Given the description of an element on the screen output the (x, y) to click on. 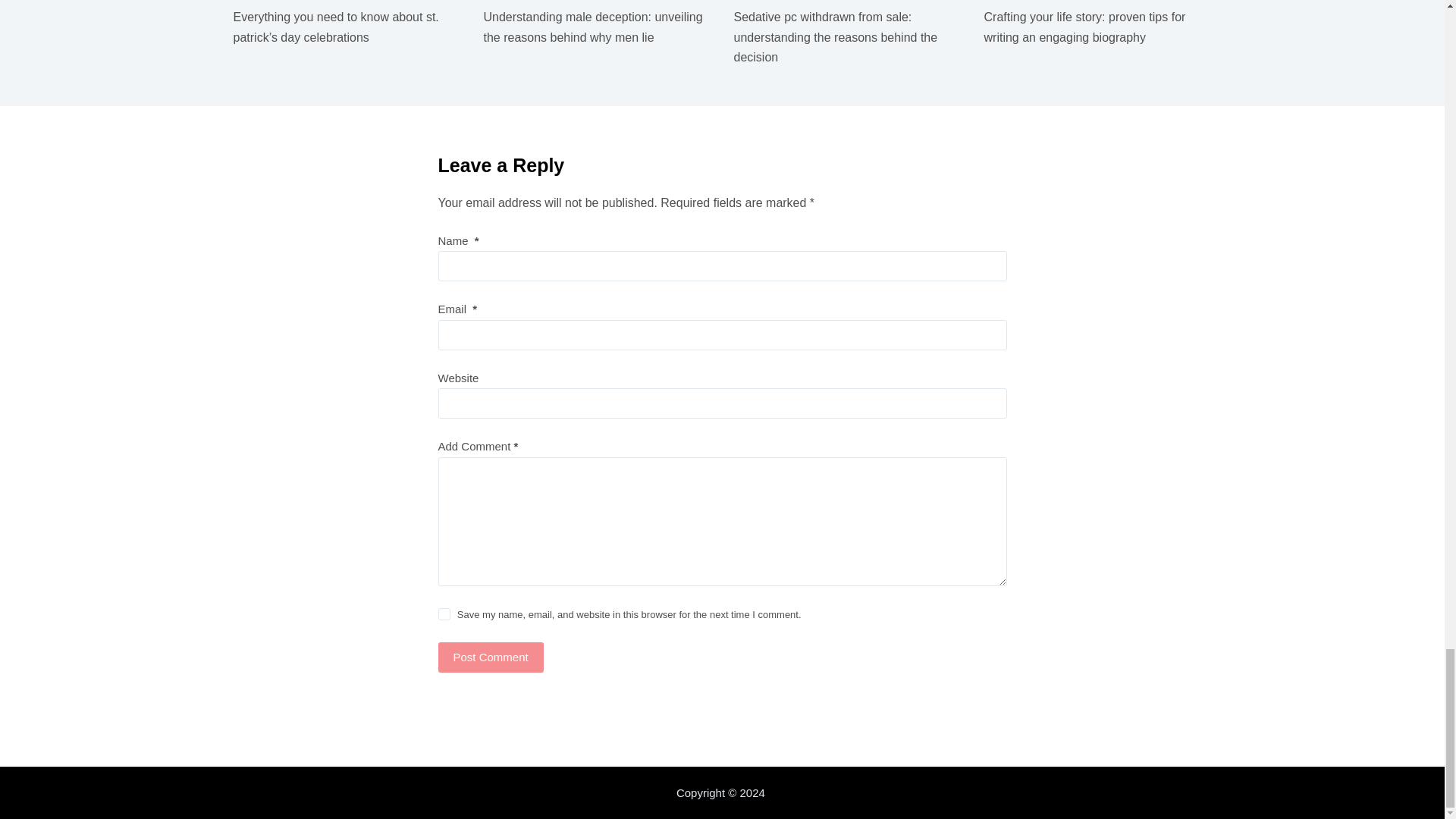
Post Comment (490, 657)
yes (443, 613)
